Given the description of an element on the screen output the (x, y) to click on. 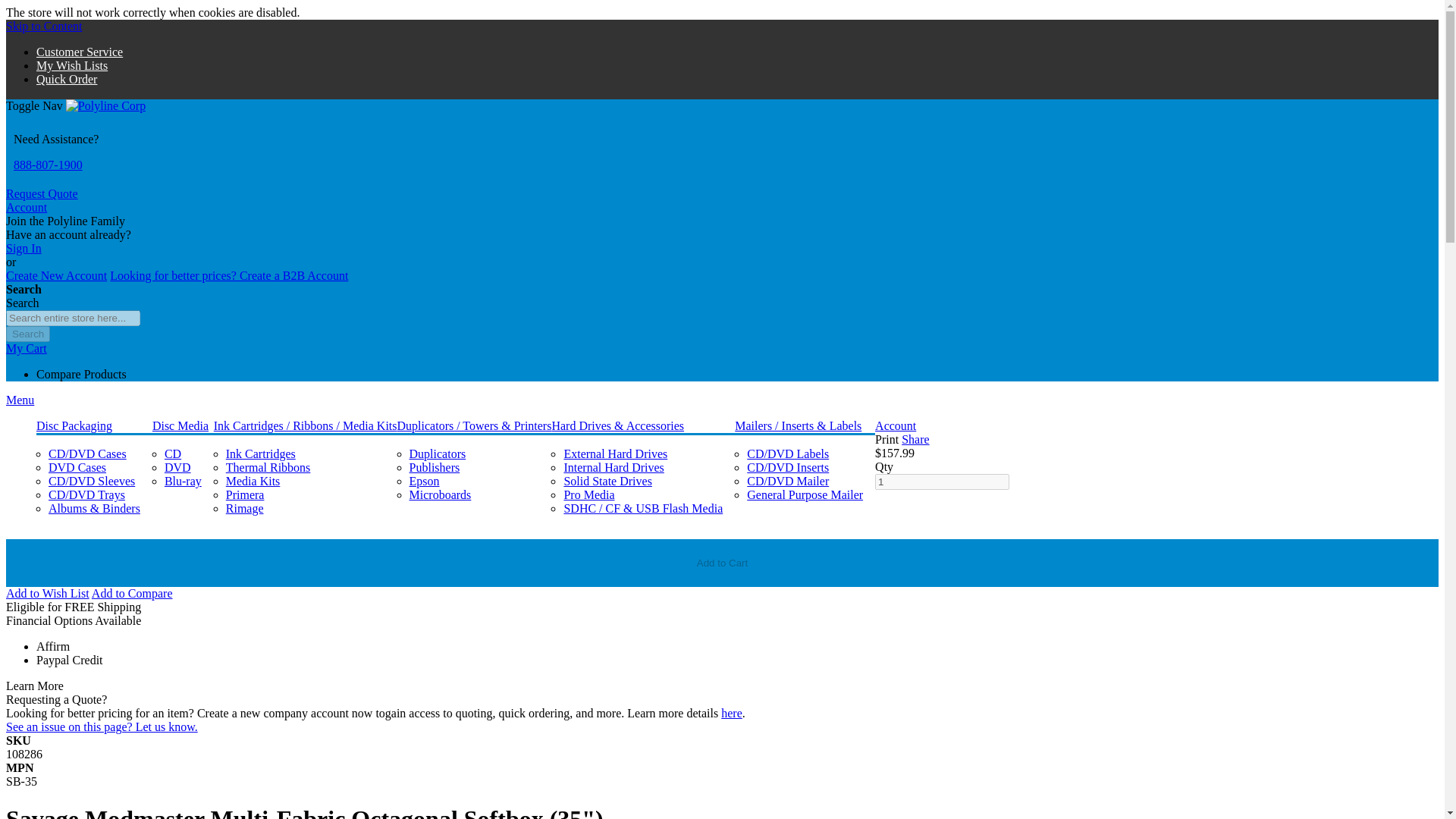
My Cart (25, 348)
Disc Packaging (74, 425)
Compare Products (81, 373)
Search (27, 333)
Microboards (440, 494)
DVD (177, 467)
Qty (942, 481)
Blu-ray (183, 481)
Print (886, 439)
Looking for better prices? Create a B2B Account (228, 275)
